Given the description of an element on the screen output the (x, y) to click on. 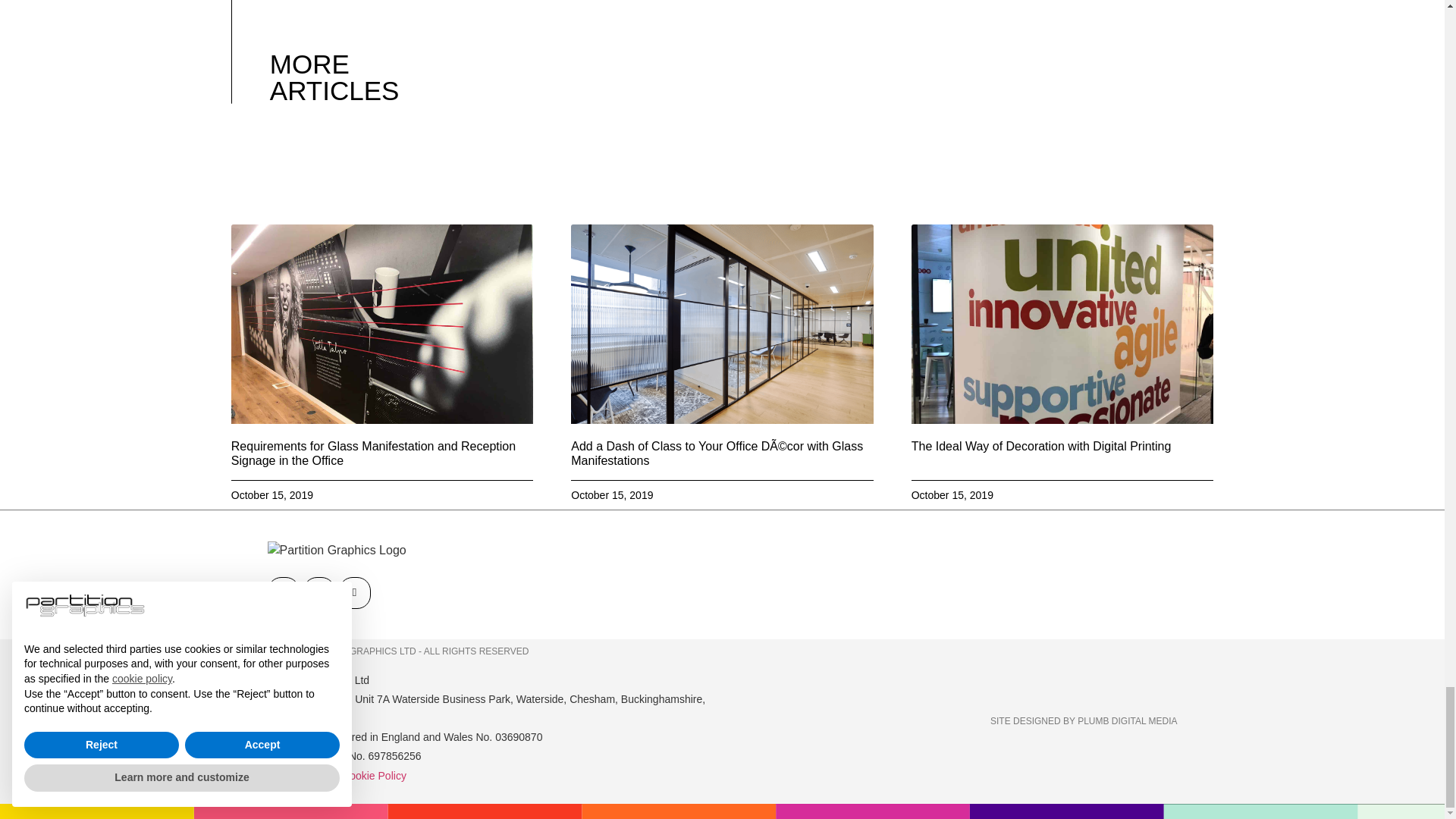
New-PG-Logo (336, 550)
